Given the description of an element on the screen output the (x, y) to click on. 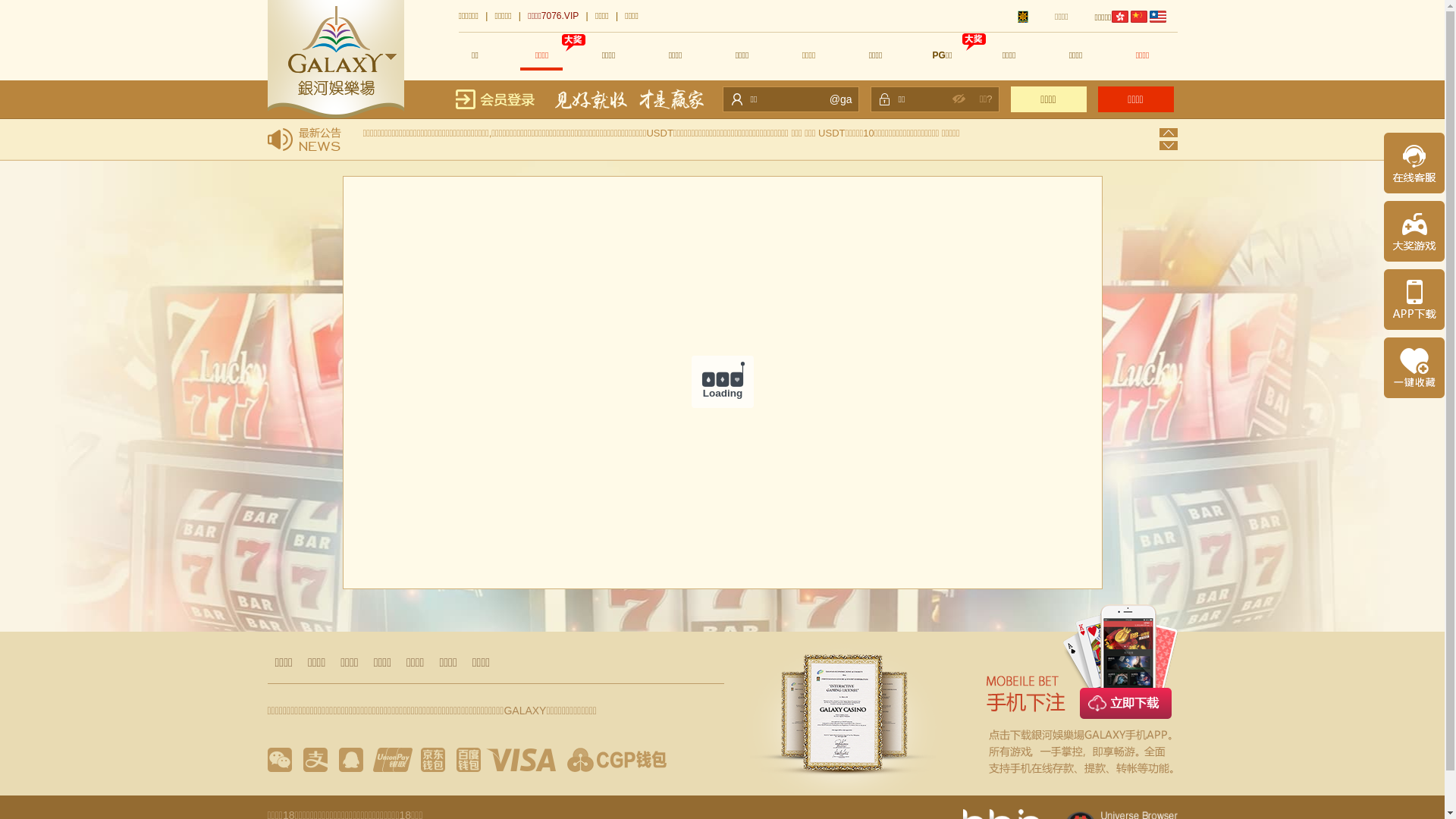
English Element type: hover (1157, 16)
